Given the description of an element on the screen output the (x, y) to click on. 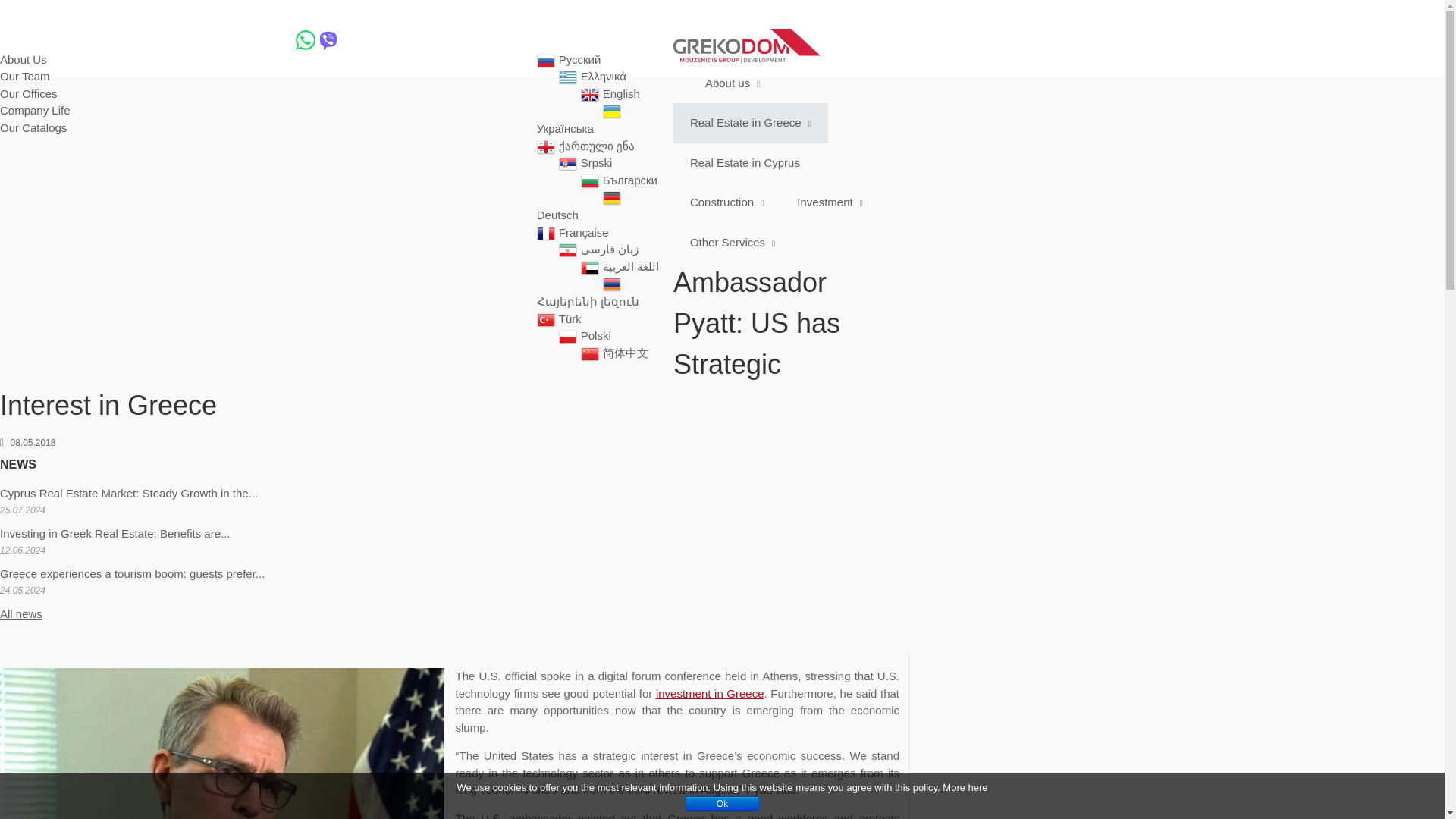
Company Life (34, 110)
About Us (23, 59)
Polski (601, 335)
English (627, 92)
Deutsch (564, 214)
Callback (373, 39)
About us (34, 39)
Our Catalogs (33, 127)
Srpski (602, 162)
Our Offices (29, 92)
Request a property (126, 39)
Our Team (24, 75)
